Given the description of an element on the screen output the (x, y) to click on. 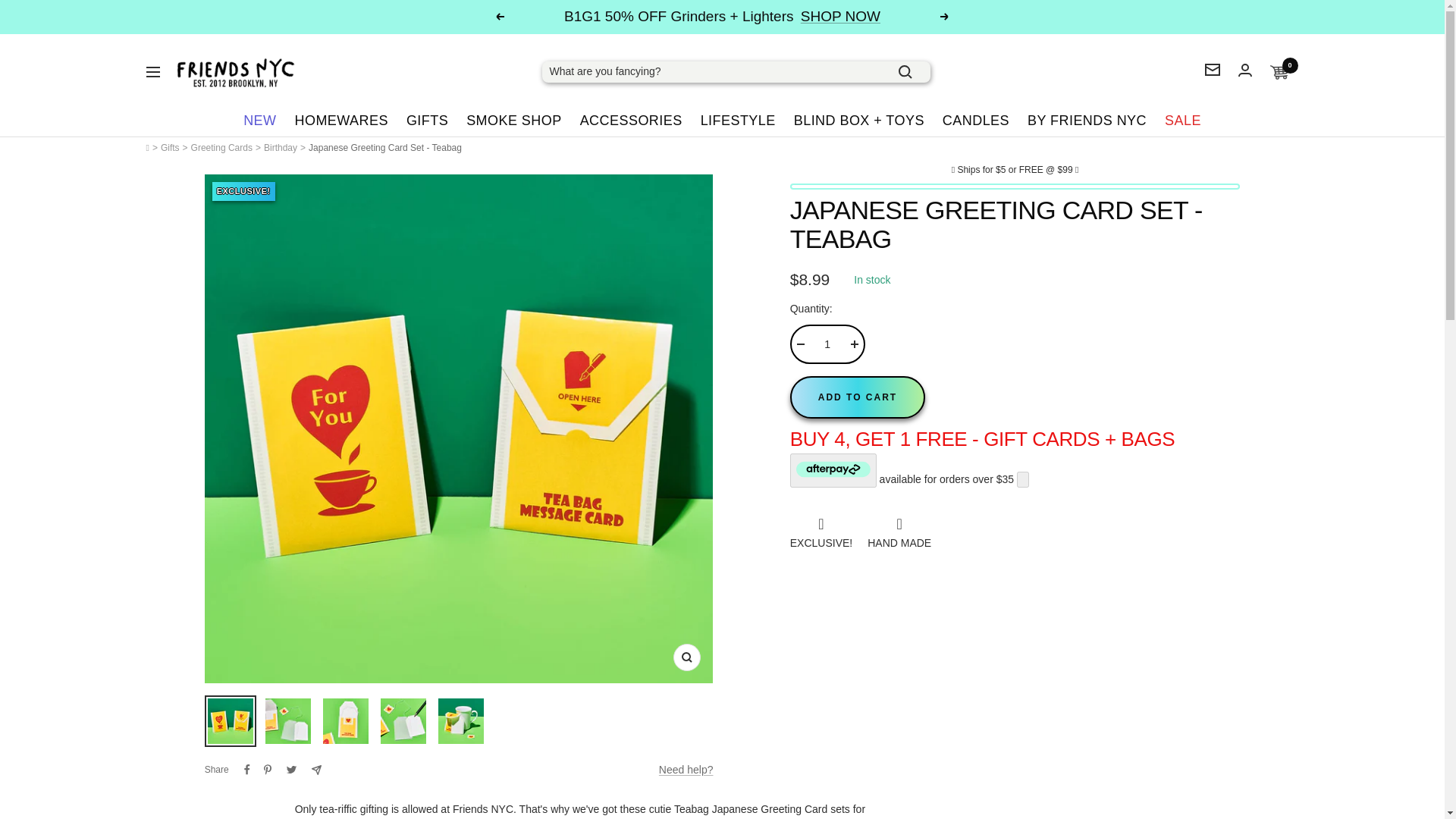
Previous (499, 16)
Birthday (280, 147)
SHOP NOW (840, 16)
Navigation (151, 71)
1 (827, 343)
NEW (259, 120)
BY FRIENDS NYC (1087, 120)
0 (1278, 72)
SMOKE SHOP (513, 120)
SALE (1182, 120)
